Given the description of an element on the screen output the (x, y) to click on. 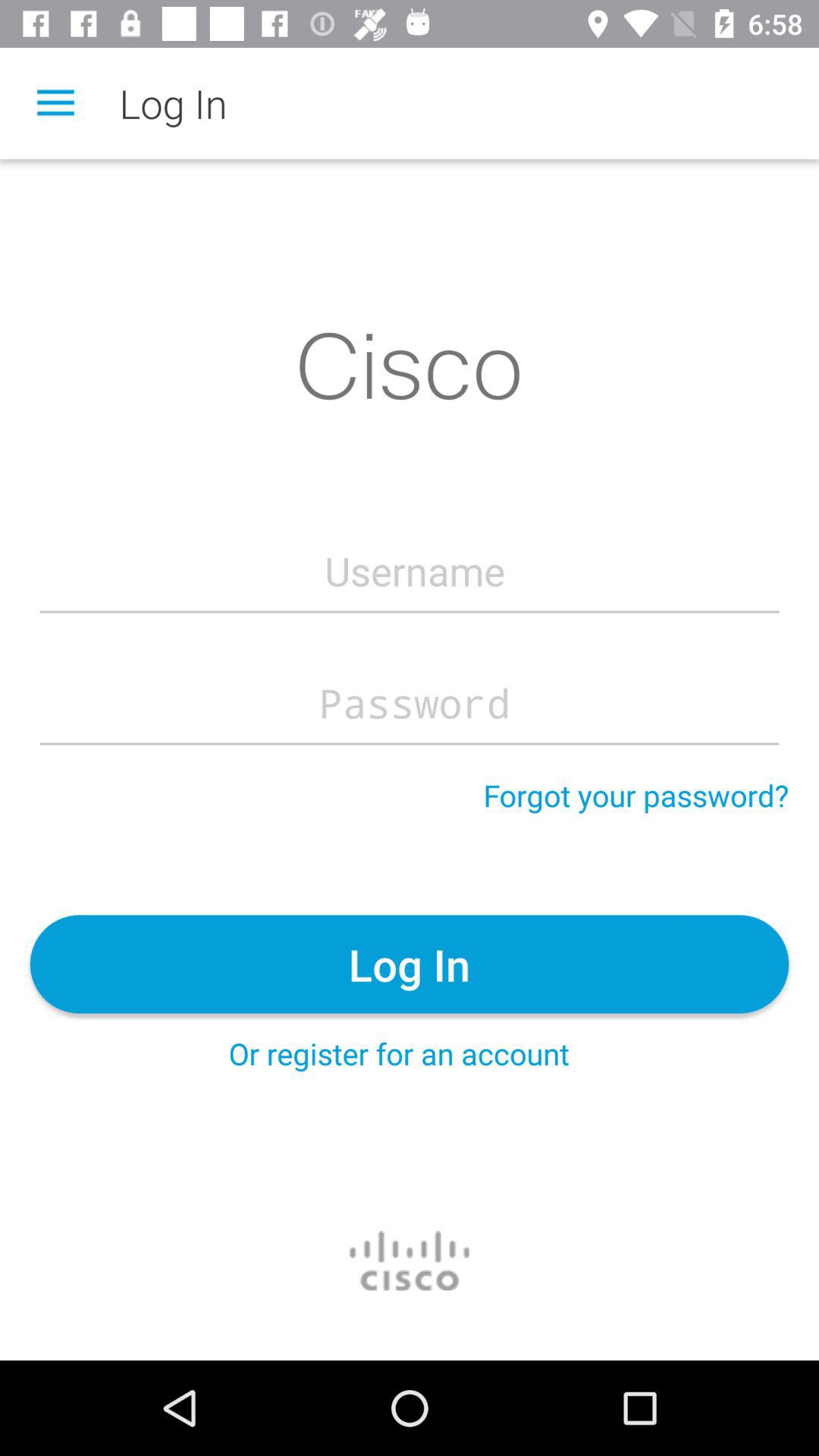
scroll to the forgot your password? (635, 795)
